Given the description of an element on the screen output the (x, y) to click on. 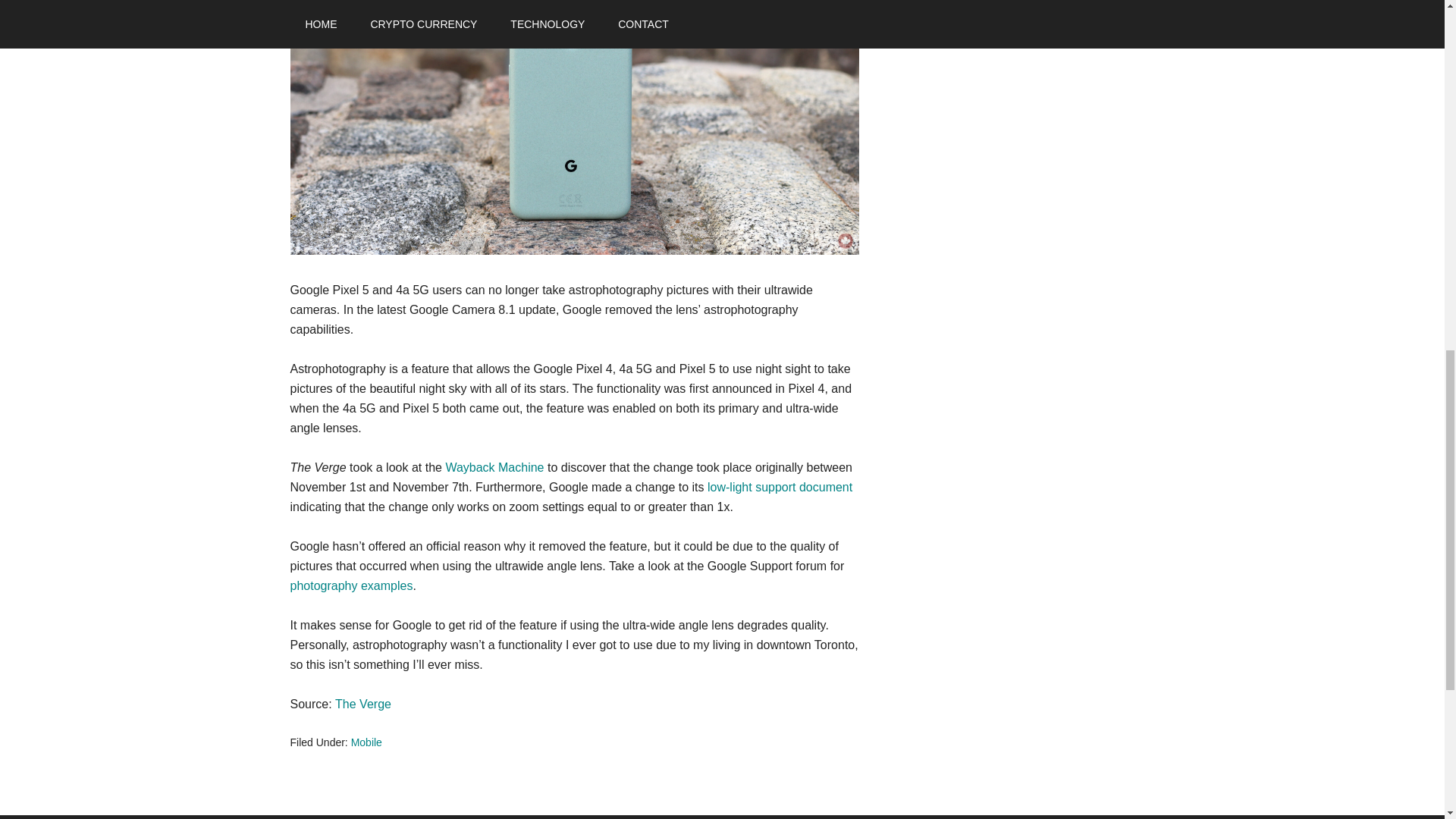
Mobile (365, 742)
low-light support document (779, 486)
Wayback Machine (494, 467)
photography examples (350, 585)
The Verge (362, 703)
